Given the description of an element on the screen output the (x, y) to click on. 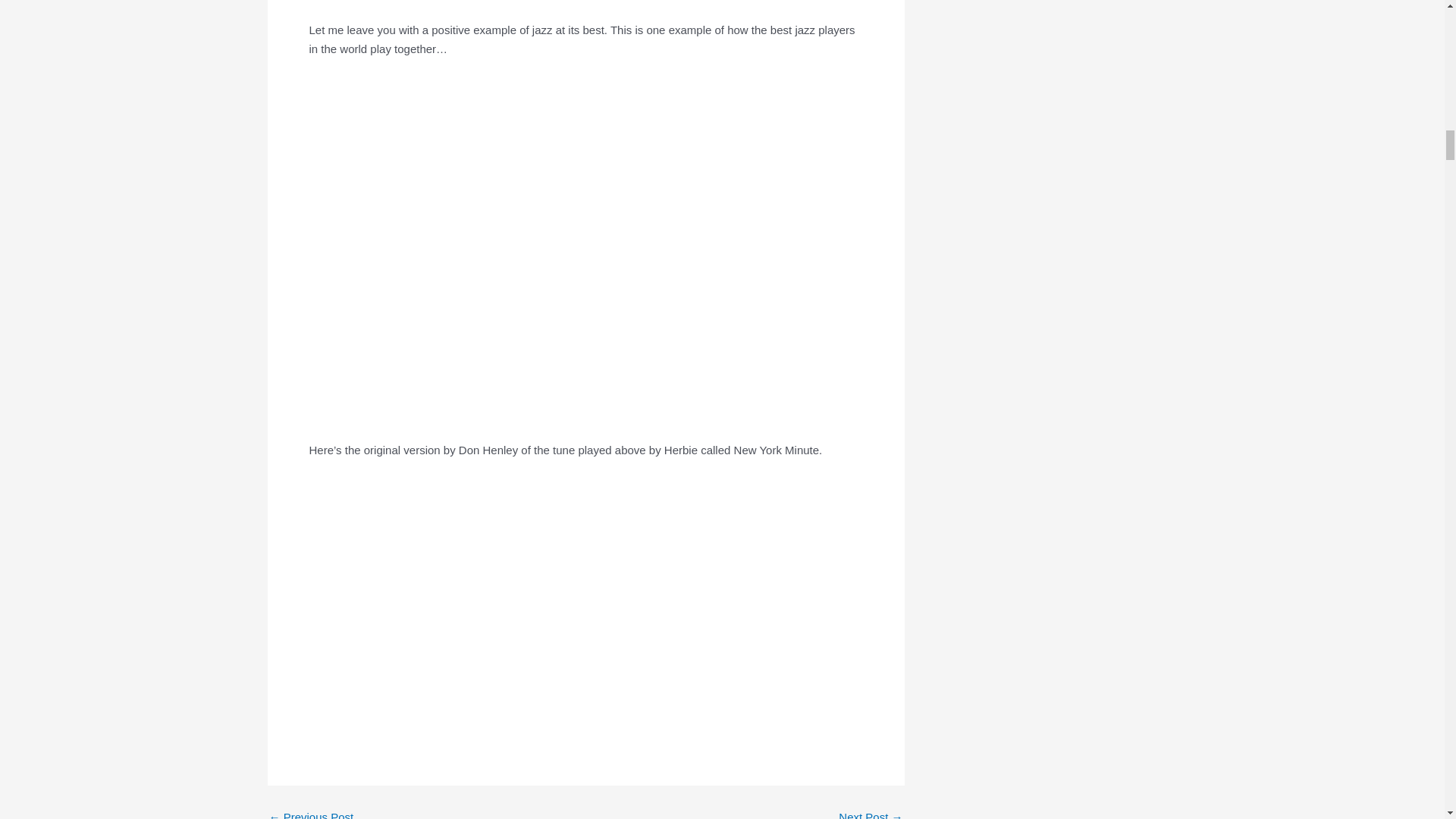
Marketing for musicians (310, 815)
Proposal for Dan Dance (870, 815)
